Given the description of an element on the screen output the (x, y) to click on. 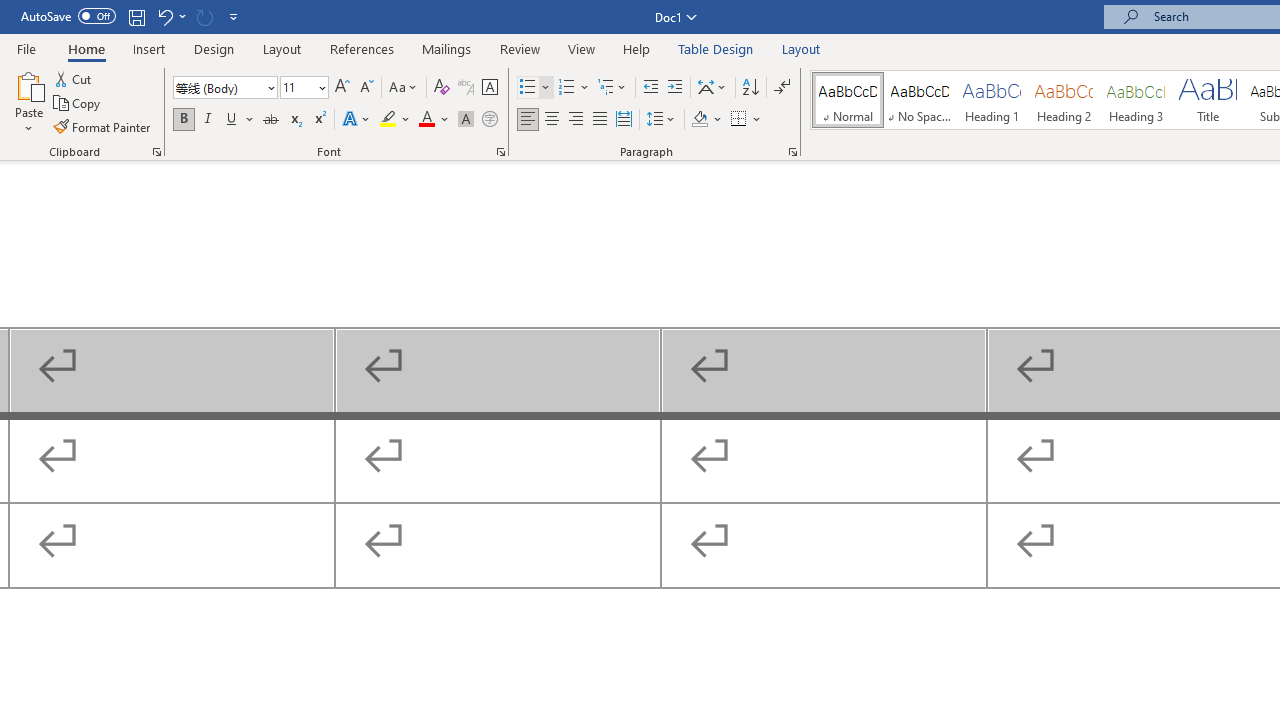
Font Color Red (426, 119)
Can't Repeat (204, 15)
